Given the description of an element on the screen output the (x, y) to click on. 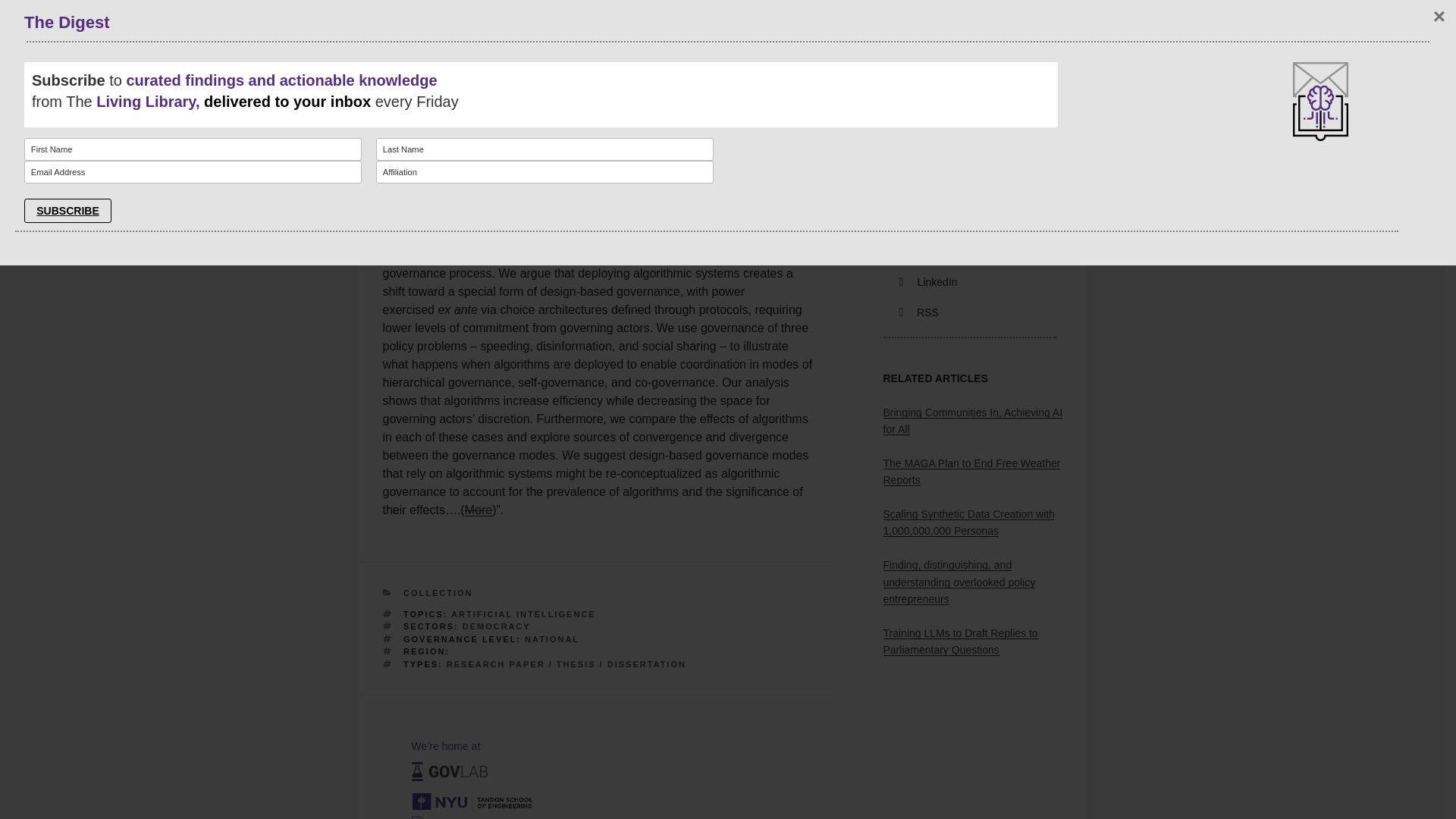
DEMOCRACY (497, 625)
COLLECTION (438, 592)
Services (612, 27)
November 16, 2020 (472, 197)
ARTIFICIAL INTELLIGENCE (523, 614)
RSS (919, 312)
Training LLMs to Draft Replies to Parliamentary Questions (959, 641)
Scaling Synthetic Data Creation with 1,000,000,000 Personas (968, 522)
Twitter (921, 252)
Products (540, 27)
Stefaan Verhulst (553, 197)
NATIONAL (551, 637)
Article (400, 236)
Bringing Communities In, Achieving AI for All (972, 420)
